Given the description of an element on the screen output the (x, y) to click on. 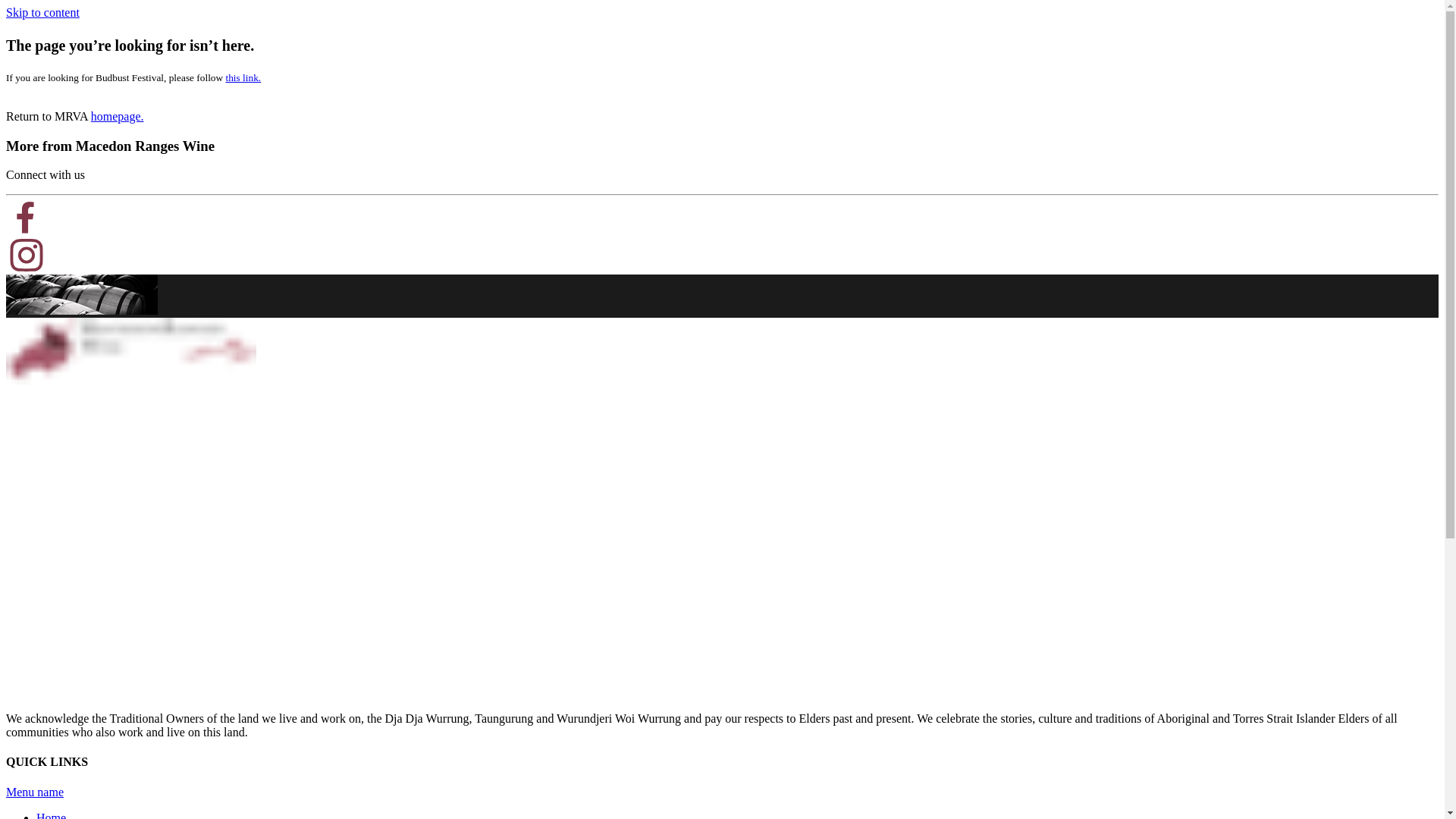
Menu name Element type: text (34, 791)
this link. Element type: text (242, 77)
Skip to content Element type: text (42, 12)
homepage. Element type: text (117, 115)
